Given the description of an element on the screen output the (x, y) to click on. 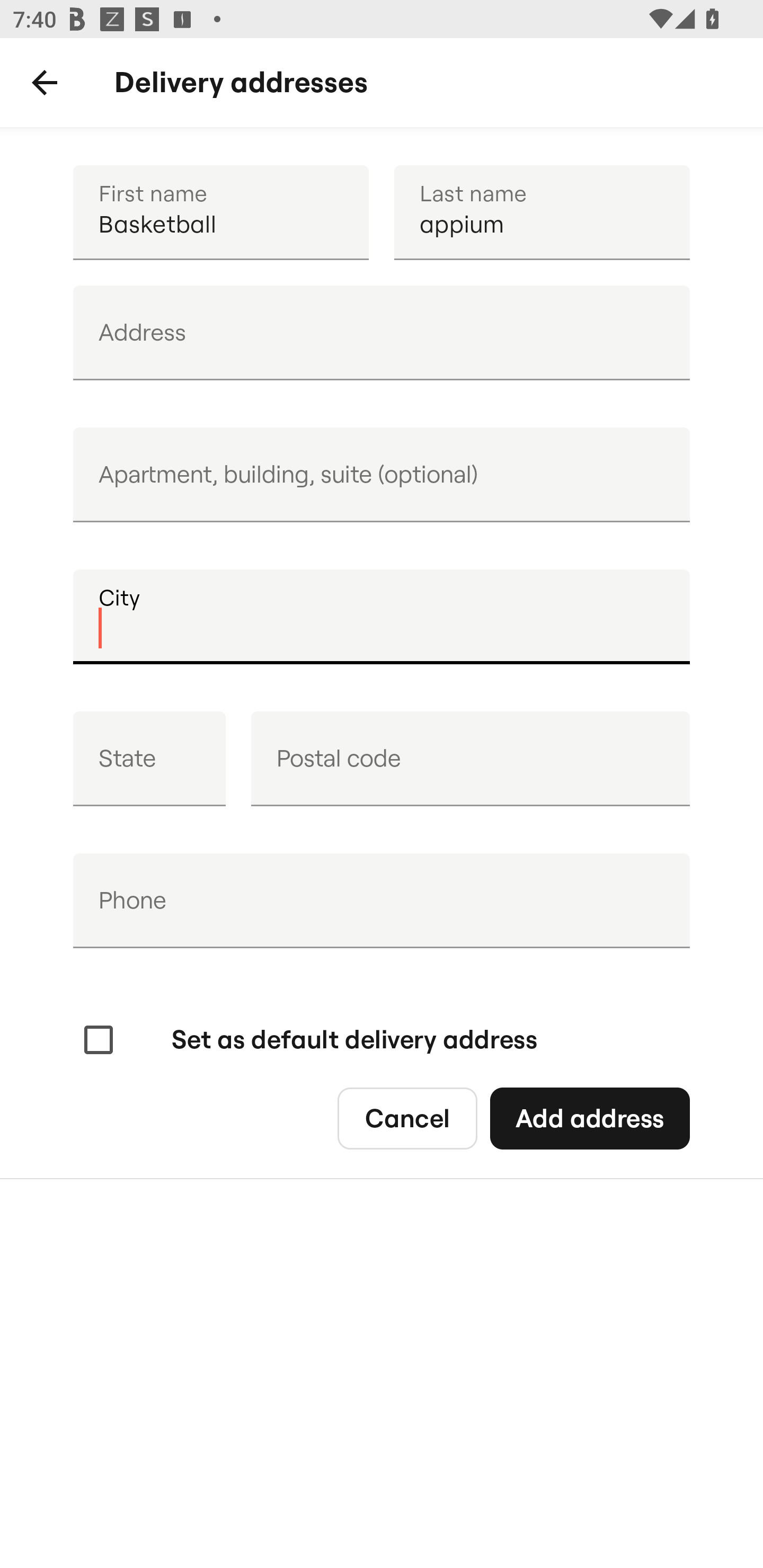
Back (44, 82)
Basketball (220, 212)
appium (541, 212)
Address (381, 333)
Apartment, building, suite (optional) (381, 475)
City (381, 616)
State (149, 758)
Postal code (470, 758)
Phone (381, 900)
Set as default delivery address (308, 1039)
Cancel (407, 1118)
Add address (589, 1118)
